Given the description of an element on the screen output the (x, y) to click on. 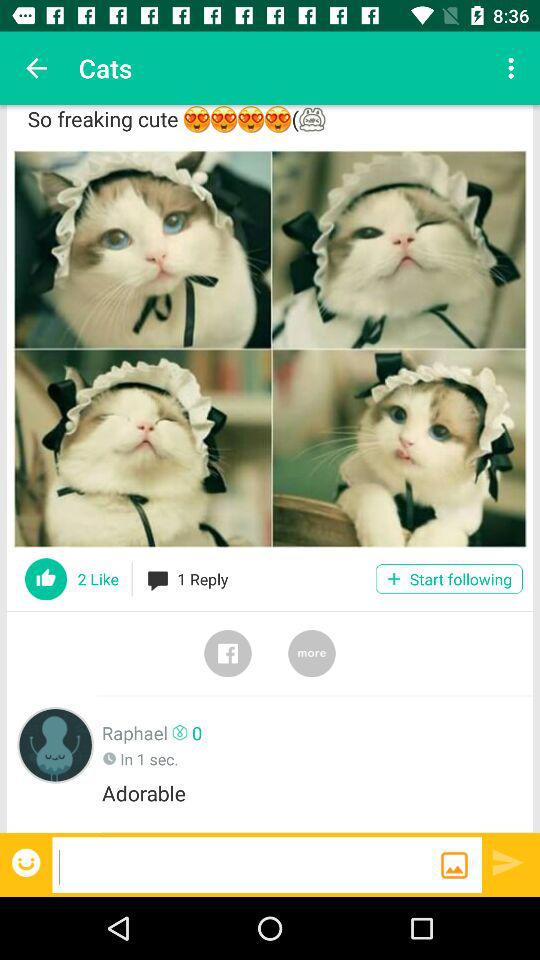
like button (46, 579)
